Given the description of an element on the screen output the (x, y) to click on. 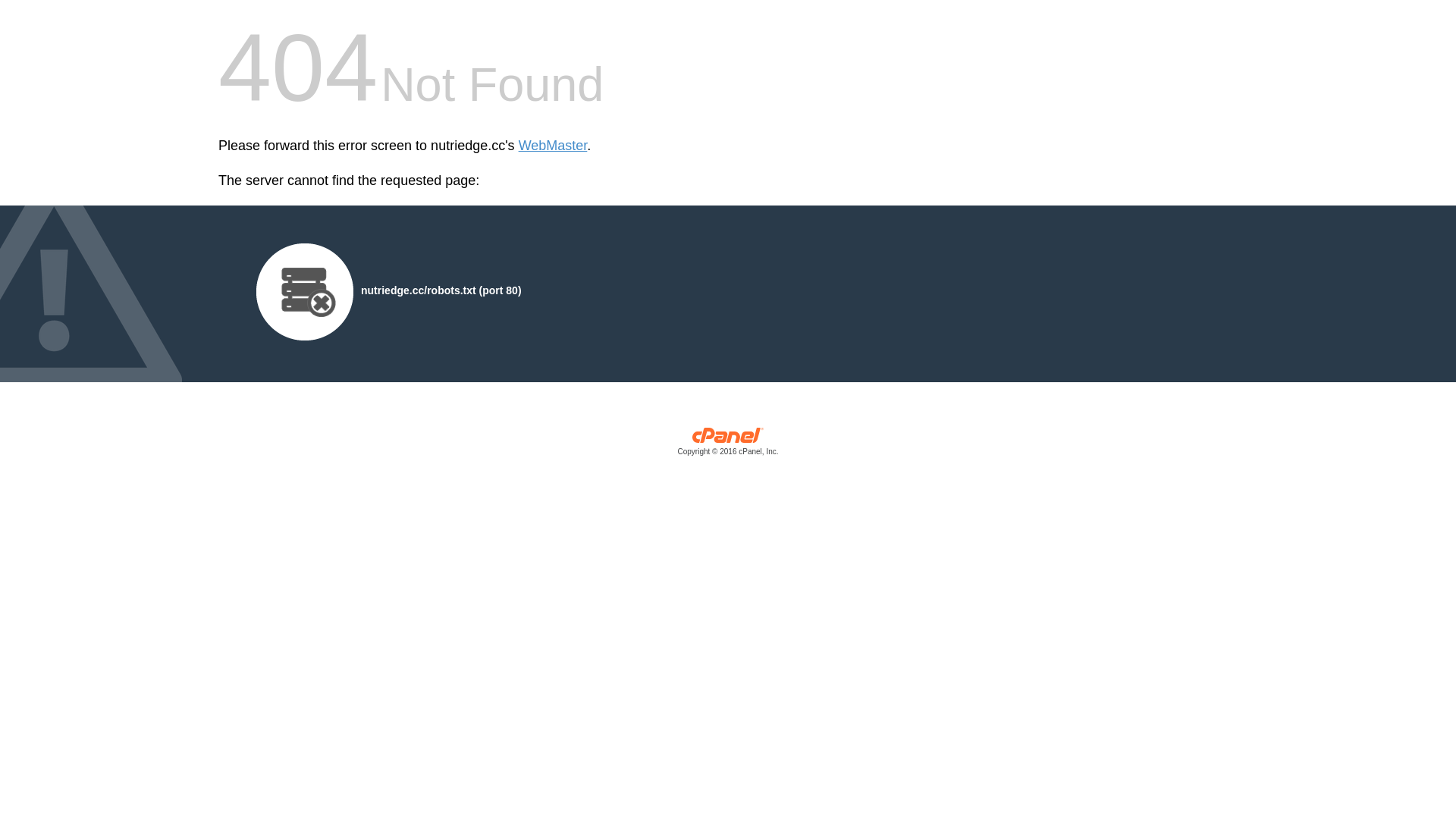
WebMaster Element type: text (552, 145)
